Given the description of an element on the screen output the (x, y) to click on. 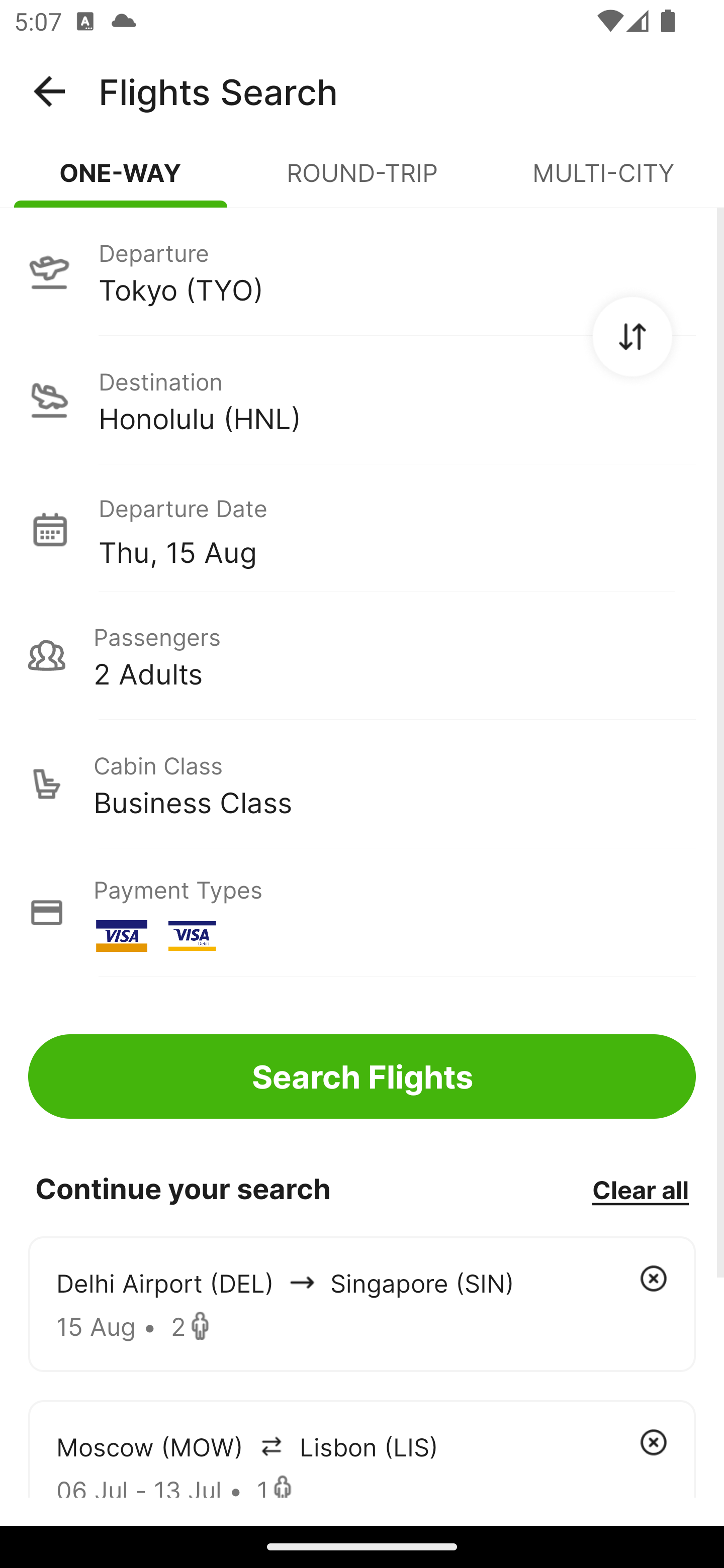
ONE-WAY (120, 180)
ROUND-TRIP (361, 180)
MULTI-CITY (603, 180)
Departure Tokyo (TYO) (362, 270)
Destination Honolulu (HNL) (362, 400)
Departure Date Thu, 15 Aug (396, 528)
Passengers 2 Adults (362, 655)
Cabin Class Business Class (362, 783)
Payment Types (362, 912)
Search Flights (361, 1075)
Clear all (640, 1189)
